Given the description of an element on the screen output the (x, y) to click on. 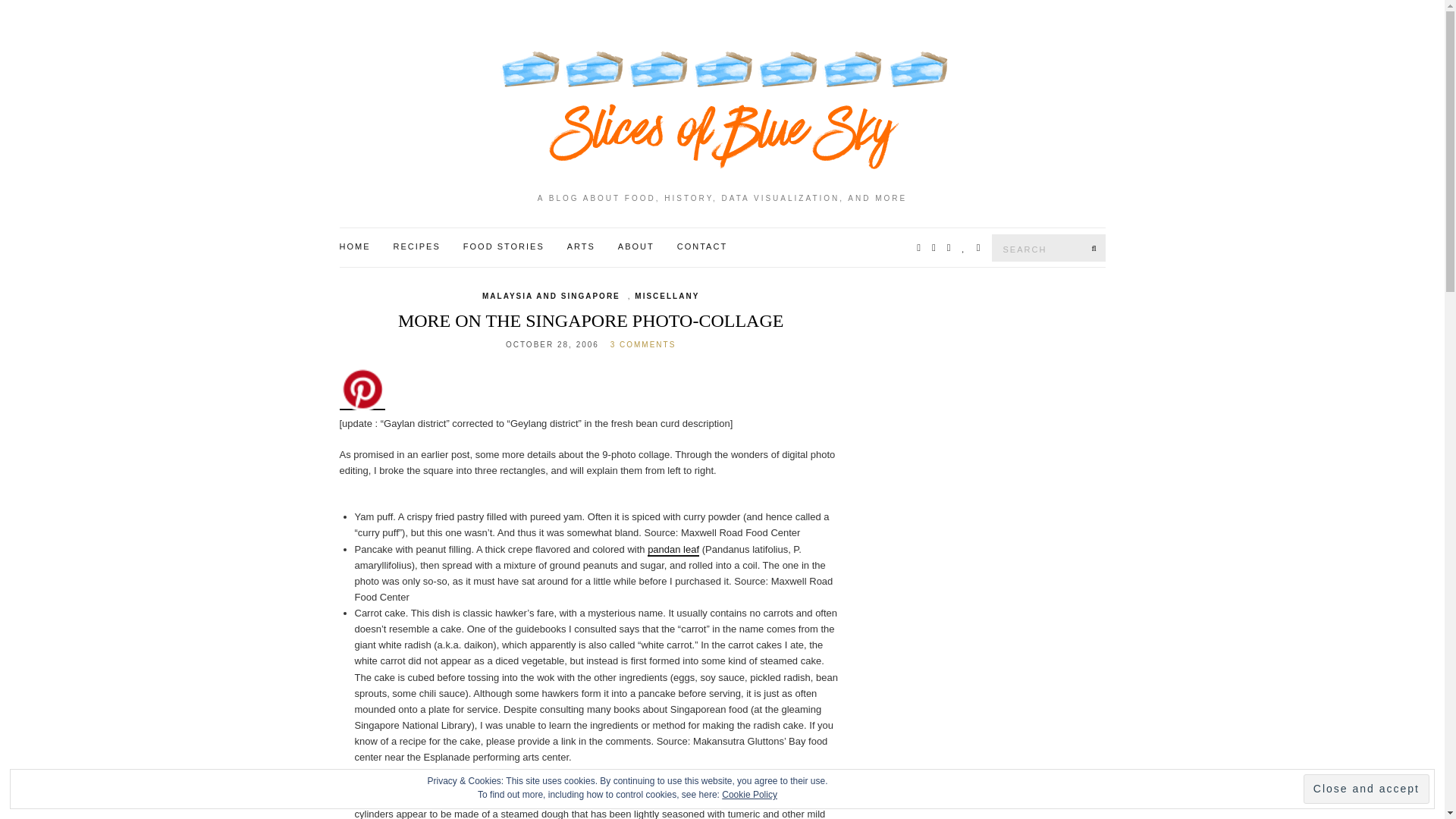
HOME (355, 246)
Close and accept (1366, 788)
MALAYSIA AND SINGAPORE (550, 296)
CONTACT (701, 246)
FOOD STORIES (503, 246)
RECIPES (416, 246)
ABOUT (635, 246)
ARTS (581, 246)
